Given the description of an element on the screen output the (x, y) to click on. 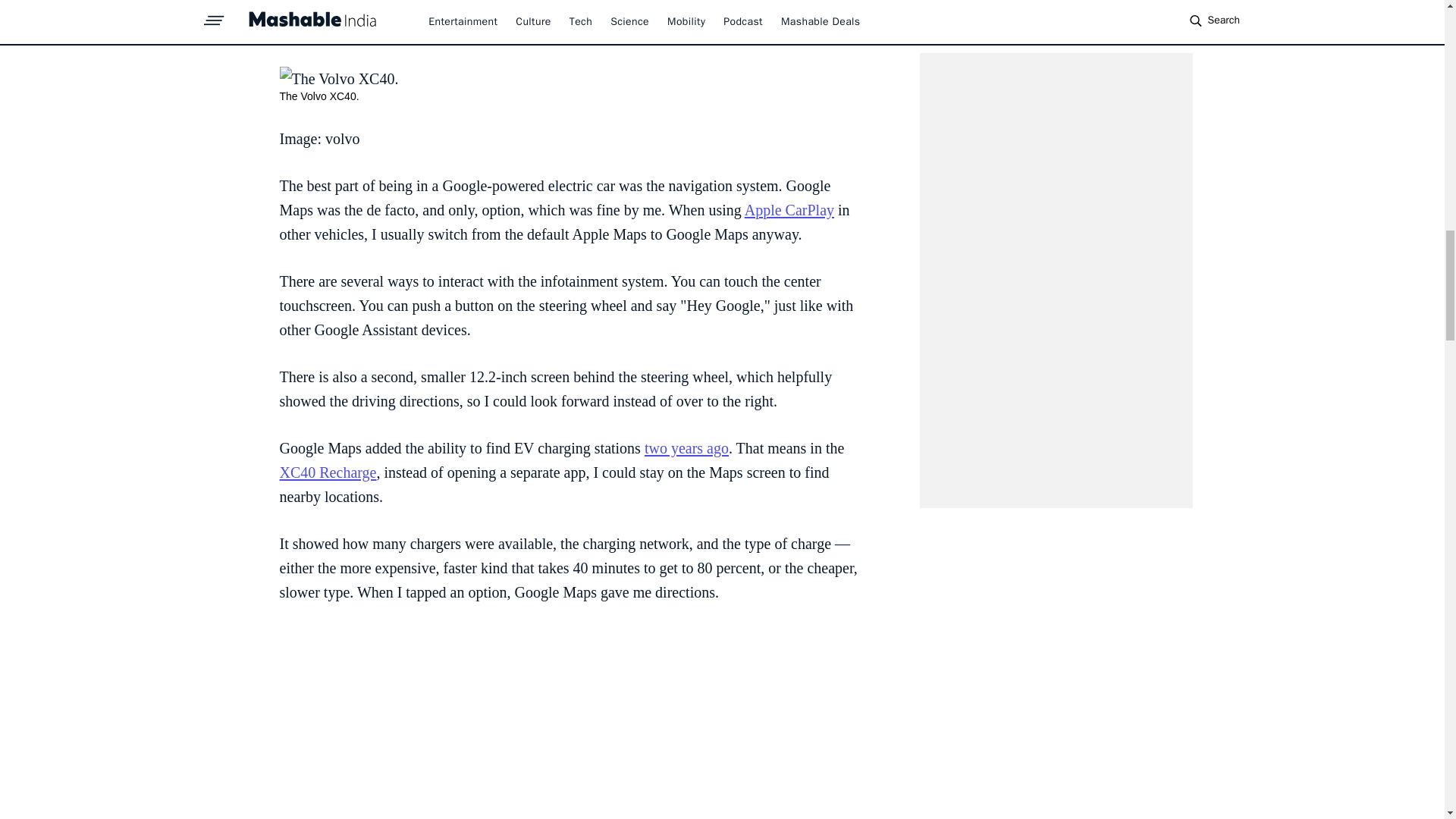
XC40 Recharge (327, 472)
Apple CarPlay (789, 209)
two years ago (687, 447)
